Given the description of an element on the screen output the (x, y) to click on. 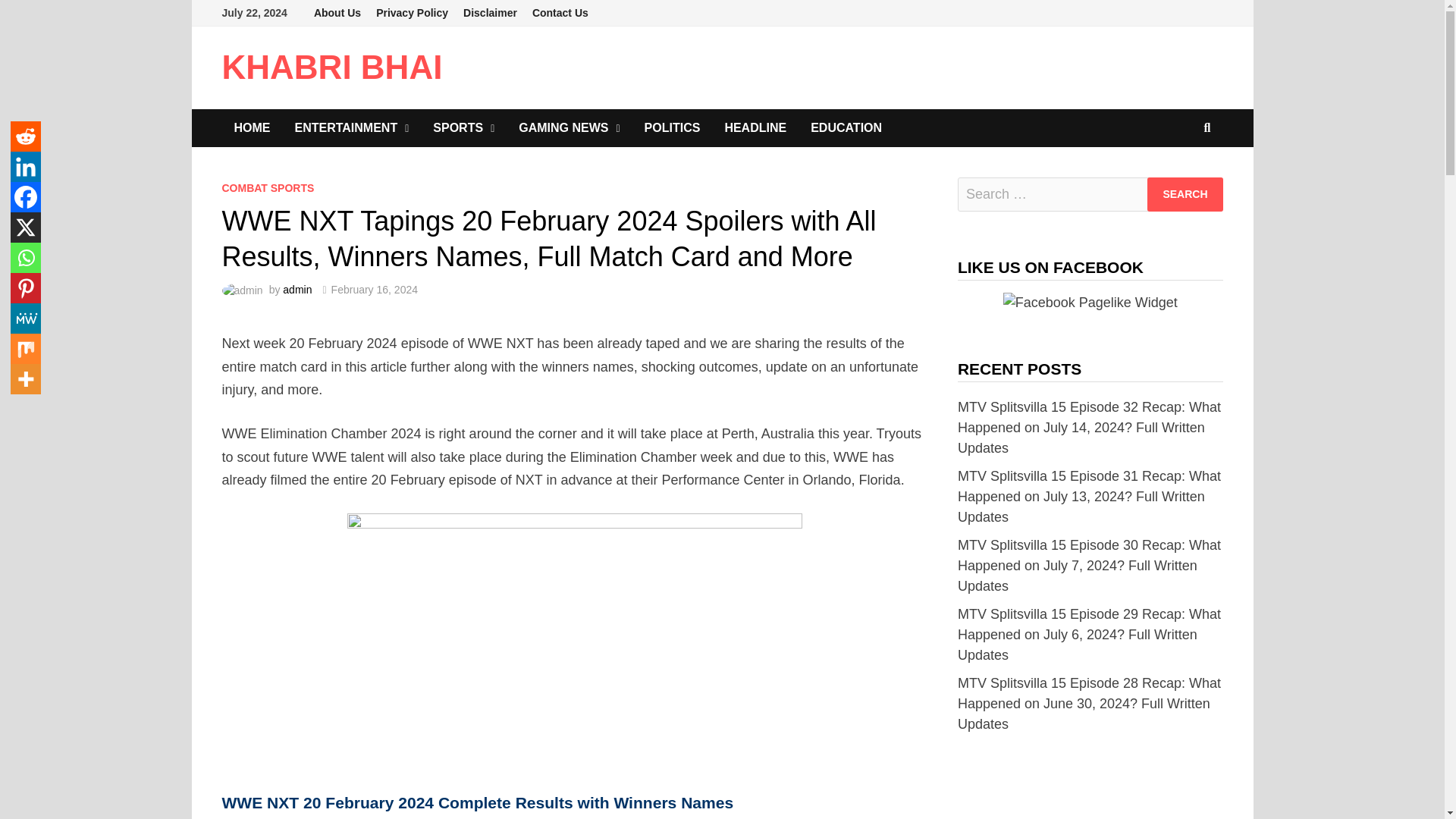
Search (1185, 194)
ENTERTAINMENT (351, 127)
KHABRI BHAI (331, 66)
Linkedin (25, 166)
Search (1185, 194)
POLITICS (672, 127)
Disclaimer (489, 13)
SPORTS (463, 127)
Facebook (25, 196)
Reddit (25, 136)
GAMING NEWS (568, 127)
HOME (251, 127)
About Us (336, 13)
Contact Us (559, 13)
Privacy Policy (411, 13)
